Given the description of an element on the screen output the (x, y) to click on. 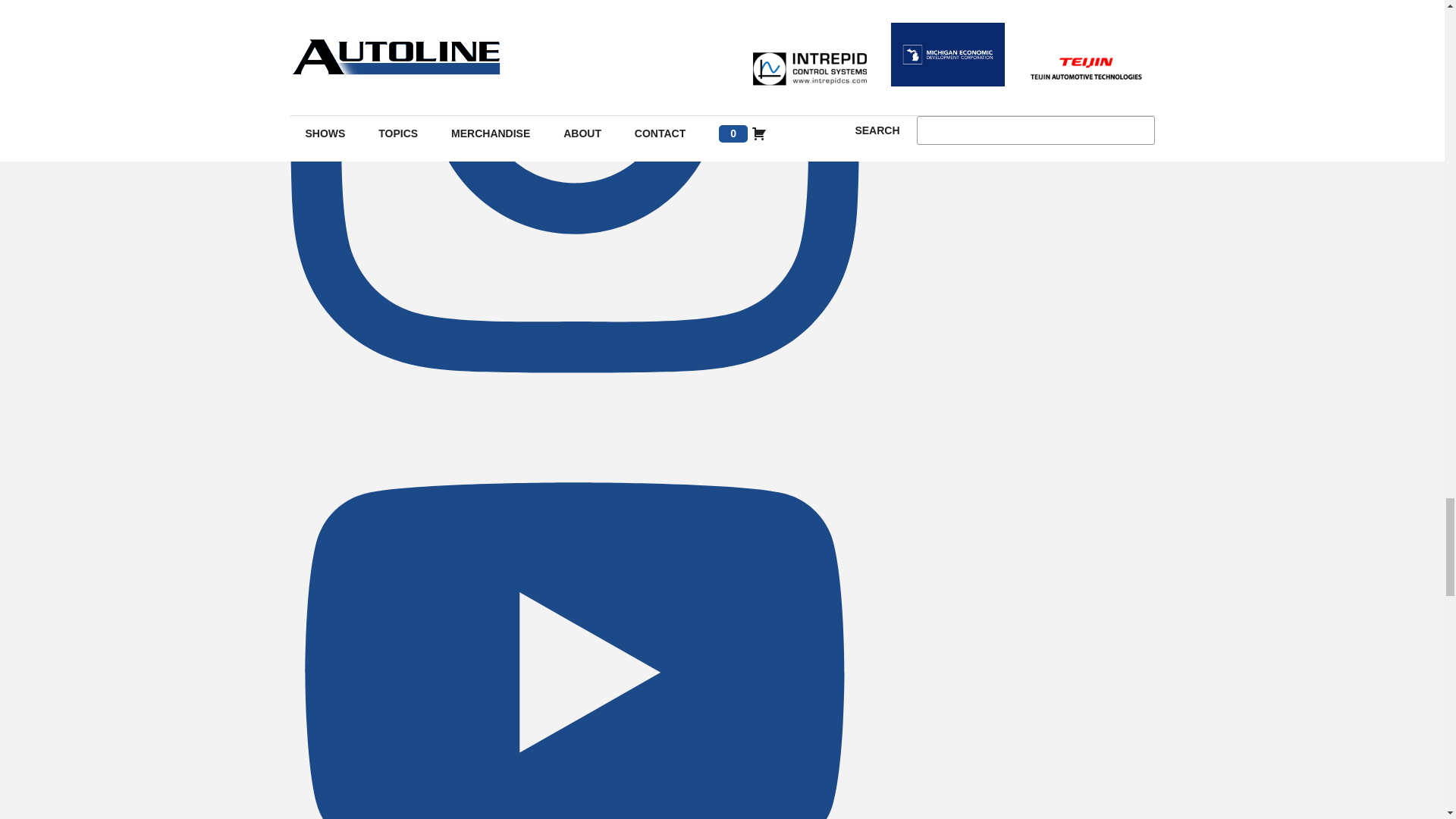
Instagram (574, 408)
